Given the description of an element on the screen output the (x, y) to click on. 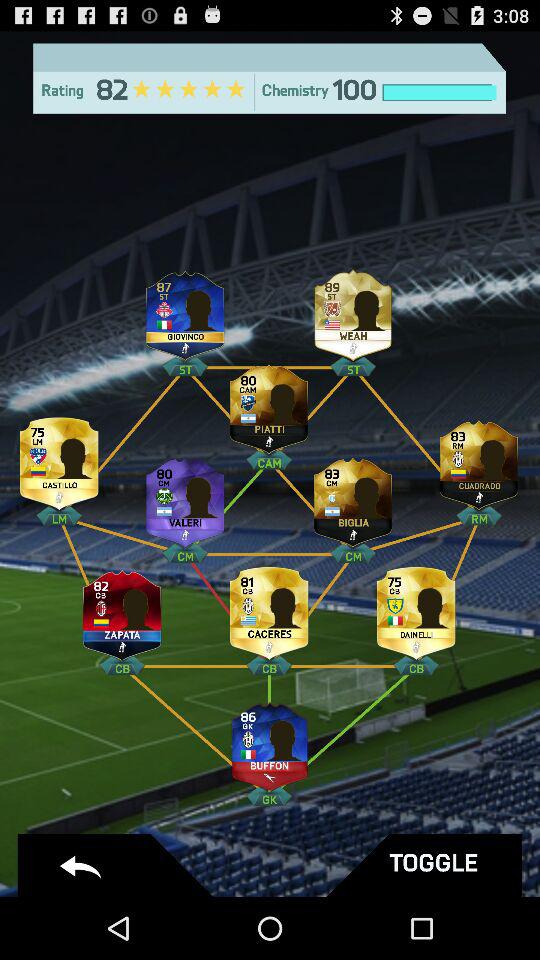
choose defender (416, 609)
